Given the description of an element on the screen output the (x, y) to click on. 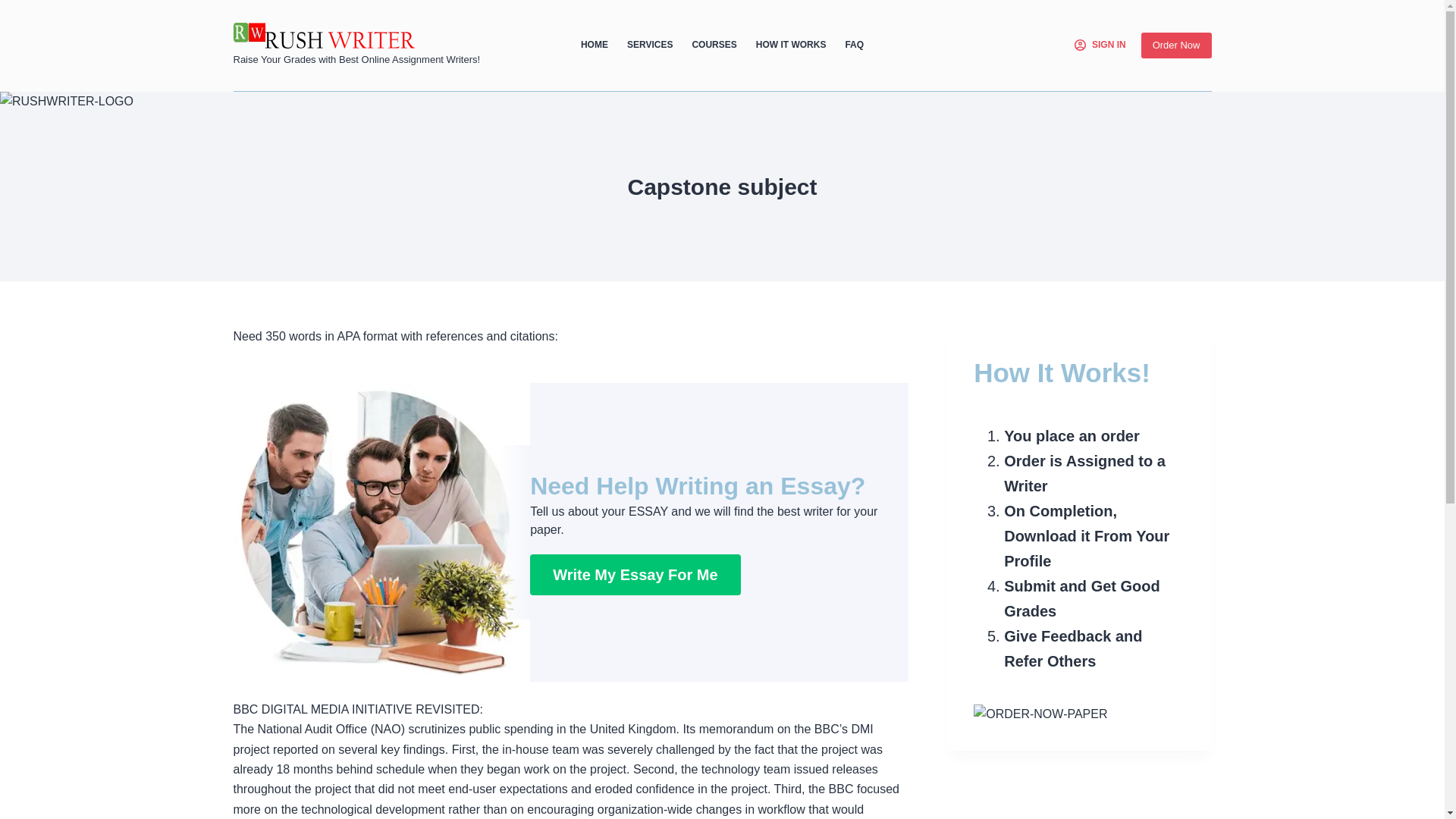
Write My Essay For Me (634, 574)
HOW IT WORKS (790, 45)
Order Now (1176, 45)
Skip to content (15, 7)
Capstone subject (722, 186)
SIGN IN (1099, 45)
